Given the description of an element on the screen output the (x, y) to click on. 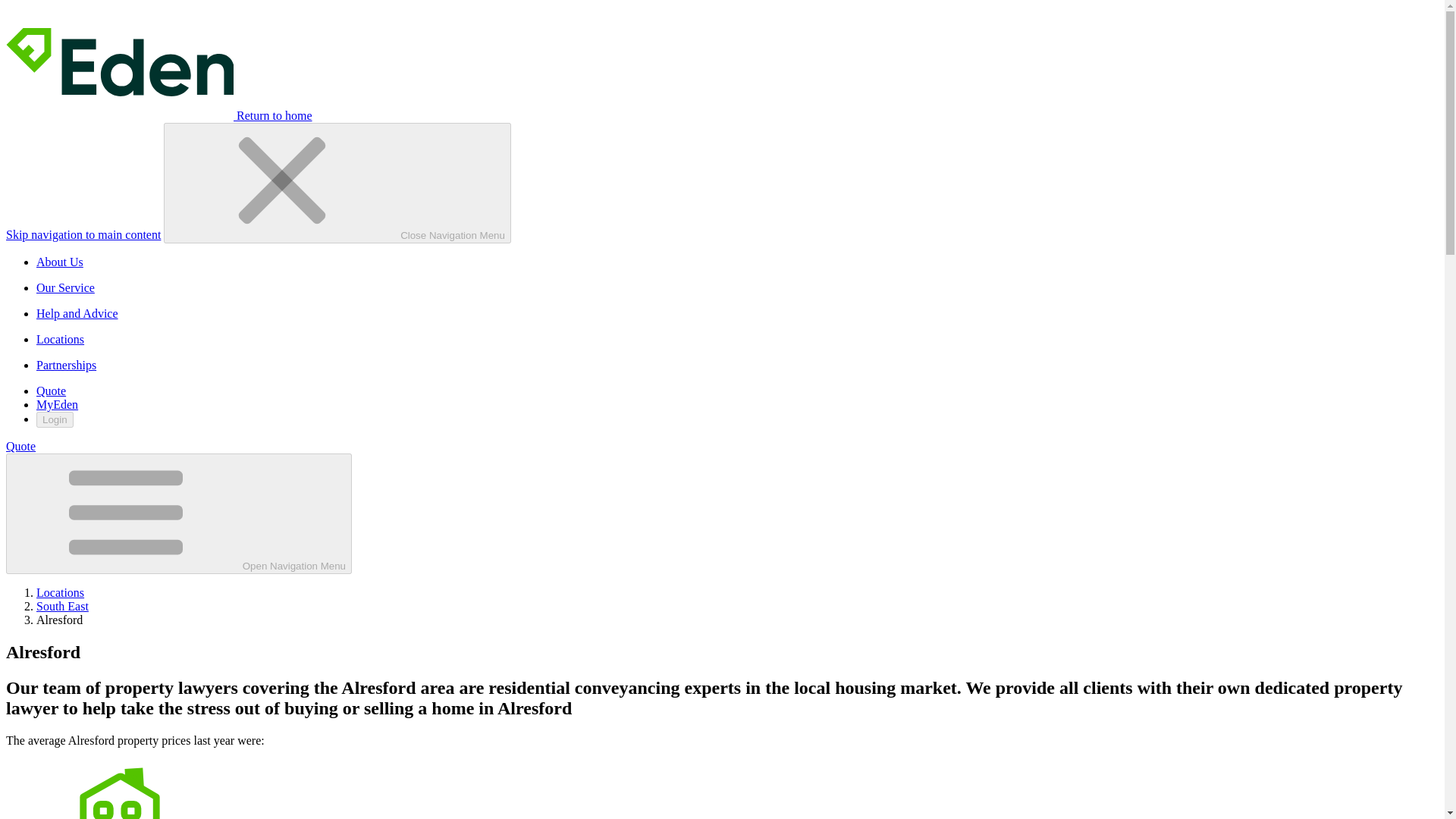
South East (62, 605)
Close Navigation Menu (337, 182)
Open Navigation Menu (178, 513)
Login (55, 419)
Quote (50, 390)
Locations (60, 592)
Return to home (159, 115)
Quote (19, 445)
Skip navigation to main content (82, 234)
MyEden (57, 404)
